Given the description of an element on the screen output the (x, y) to click on. 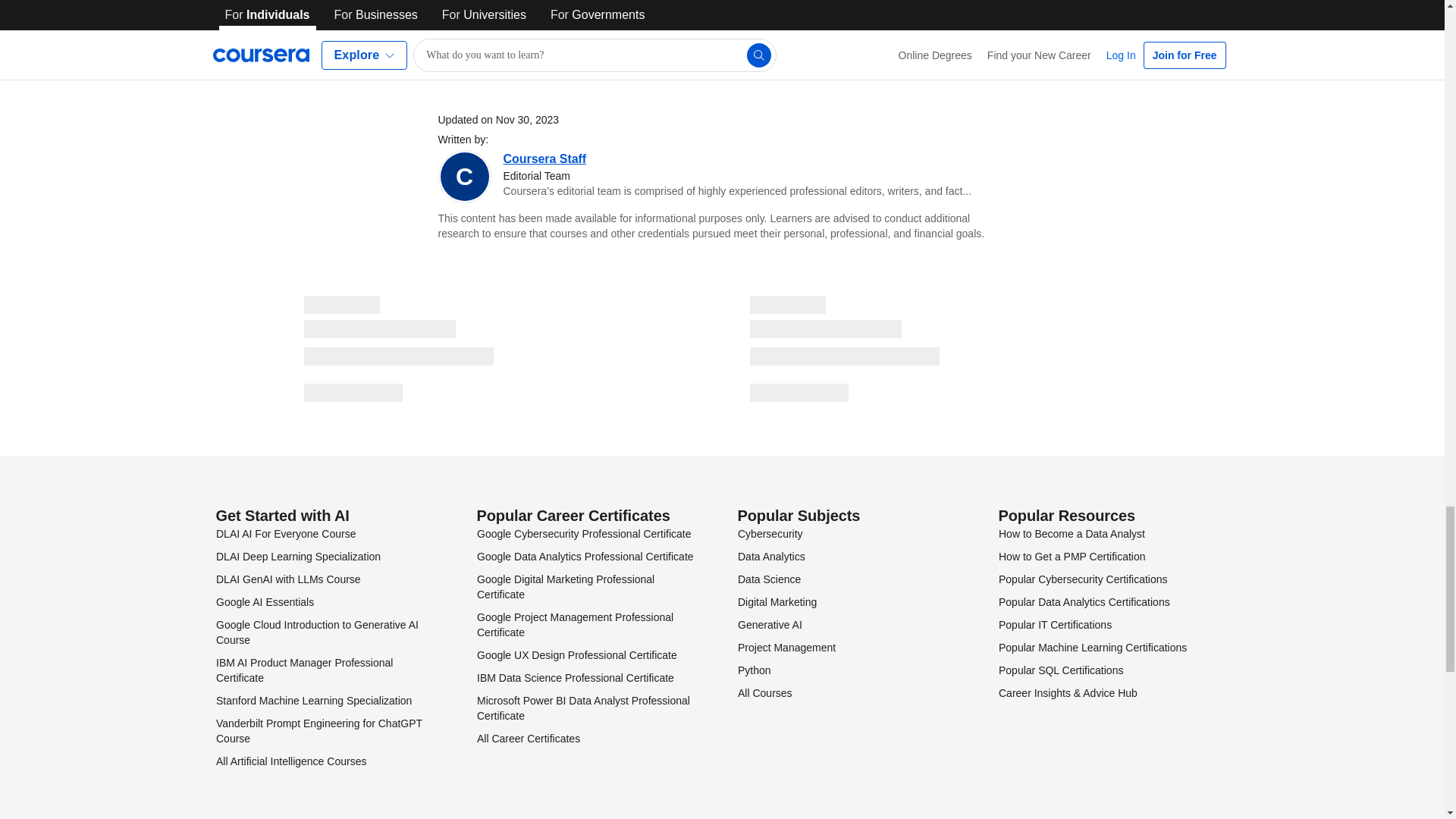
Google AI Essentials (264, 602)
Google Cloud Introduction to Generative AI Course (316, 632)
Google Cybersecurity Professional Certificate (583, 533)
DLAI GenAI with LLMs Course (287, 579)
Google Project Management Professional Certificate (574, 624)
Stanford Machine Learning Specialization (312, 700)
IBM AI Product Manager Professional Certificate (303, 669)
DLAI Deep Learning Specialization (297, 556)
Vanderbilt Prompt Engineering for ChatGPT Course (318, 730)
Google Data Analytics Professional Certificate (584, 556)
All Artificial Intelligence Courses (290, 761)
Coursera Staff (544, 158)
Google Digital Marketing Professional Certificate (564, 586)
Google UX Design Professional Certificate (576, 654)
DLAI AI For Everyone Course (285, 533)
